Given the description of an element on the screen output the (x, y) to click on. 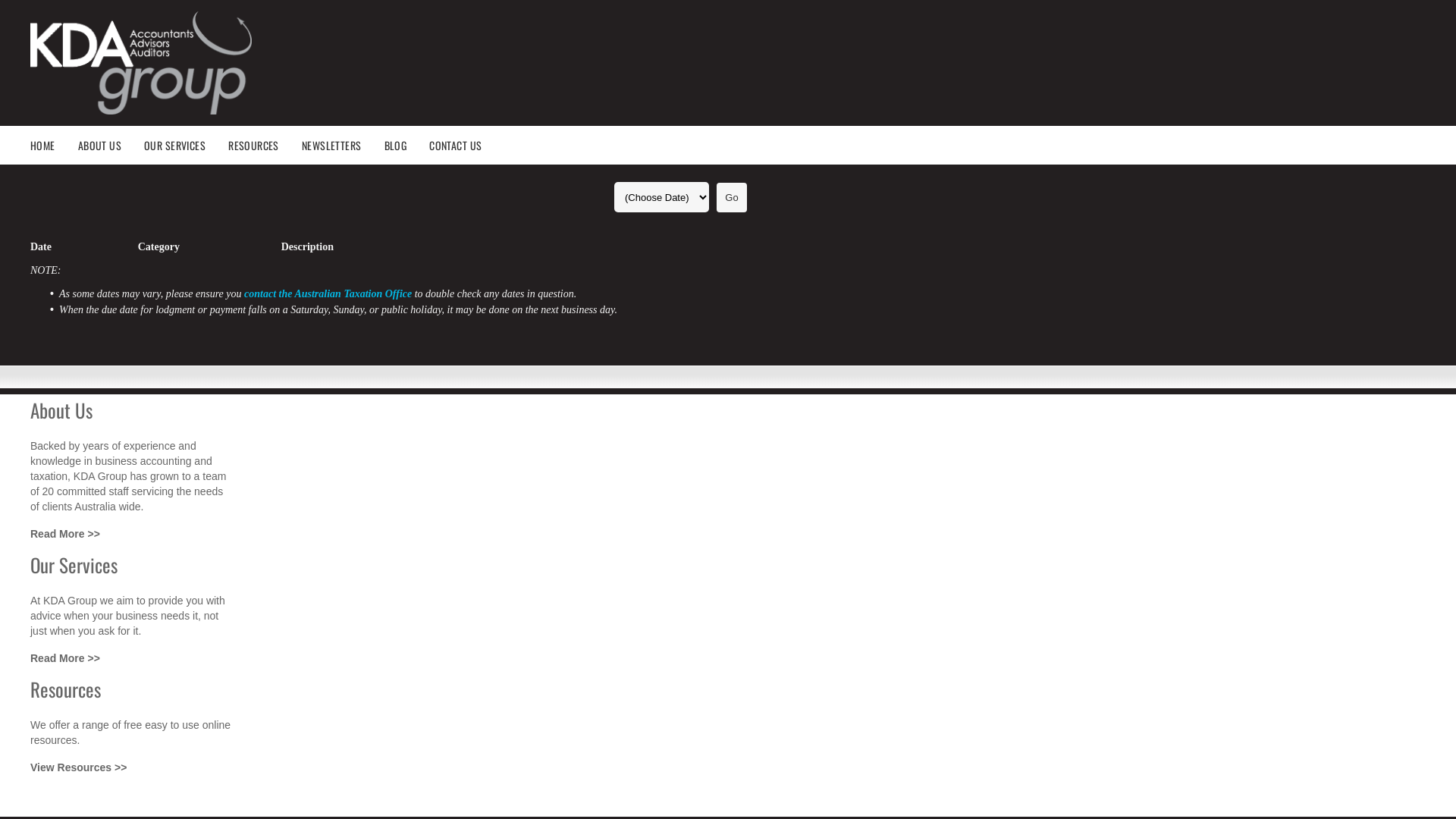
BLOG Element type: text (406, 144)
CONTACT US Element type: text (466, 144)
Accountants, Advisors, KDA Group Pty Ltd , Bowral, Australia Element type: hover (140, 62)
contact the Australian Taxation Office Element type: text (327, 293)
ABOUT US Element type: text (111, 144)
HOME Element type: text (54, 144)
Read More >> Element type: text (65, 533)
Read More >> Element type: text (65, 658)
RESOURCES Element type: text (264, 144)
NEWSLETTERS Element type: text (342, 144)
OUR SERVICES Element type: text (186, 144)
View Resources >> Element type: text (78, 767)
